Given the description of an element on the screen output the (x, y) to click on. 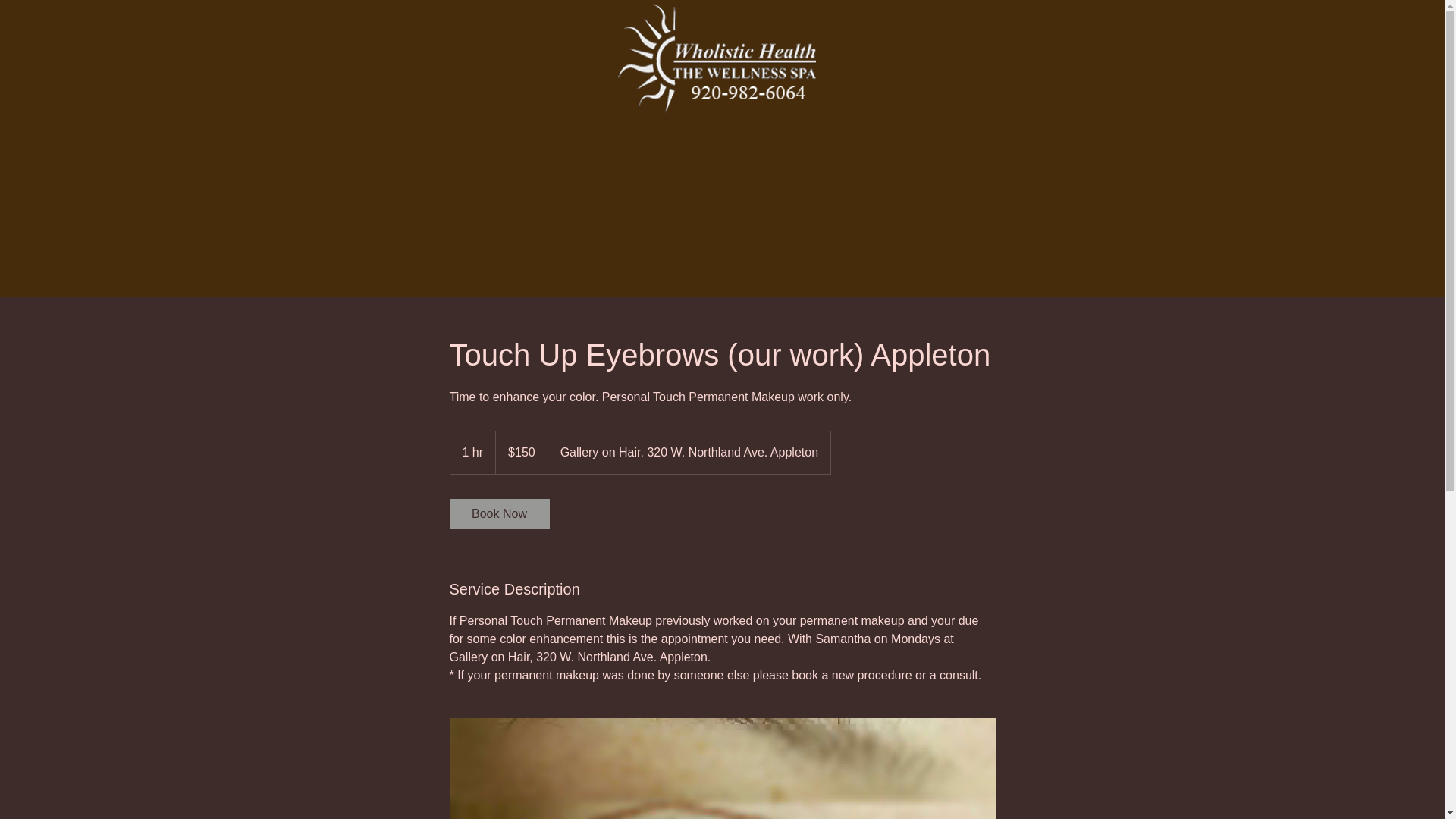
headerlogo.png (716, 57)
Book Now (498, 513)
